Given the description of an element on the screen output the (x, y) to click on. 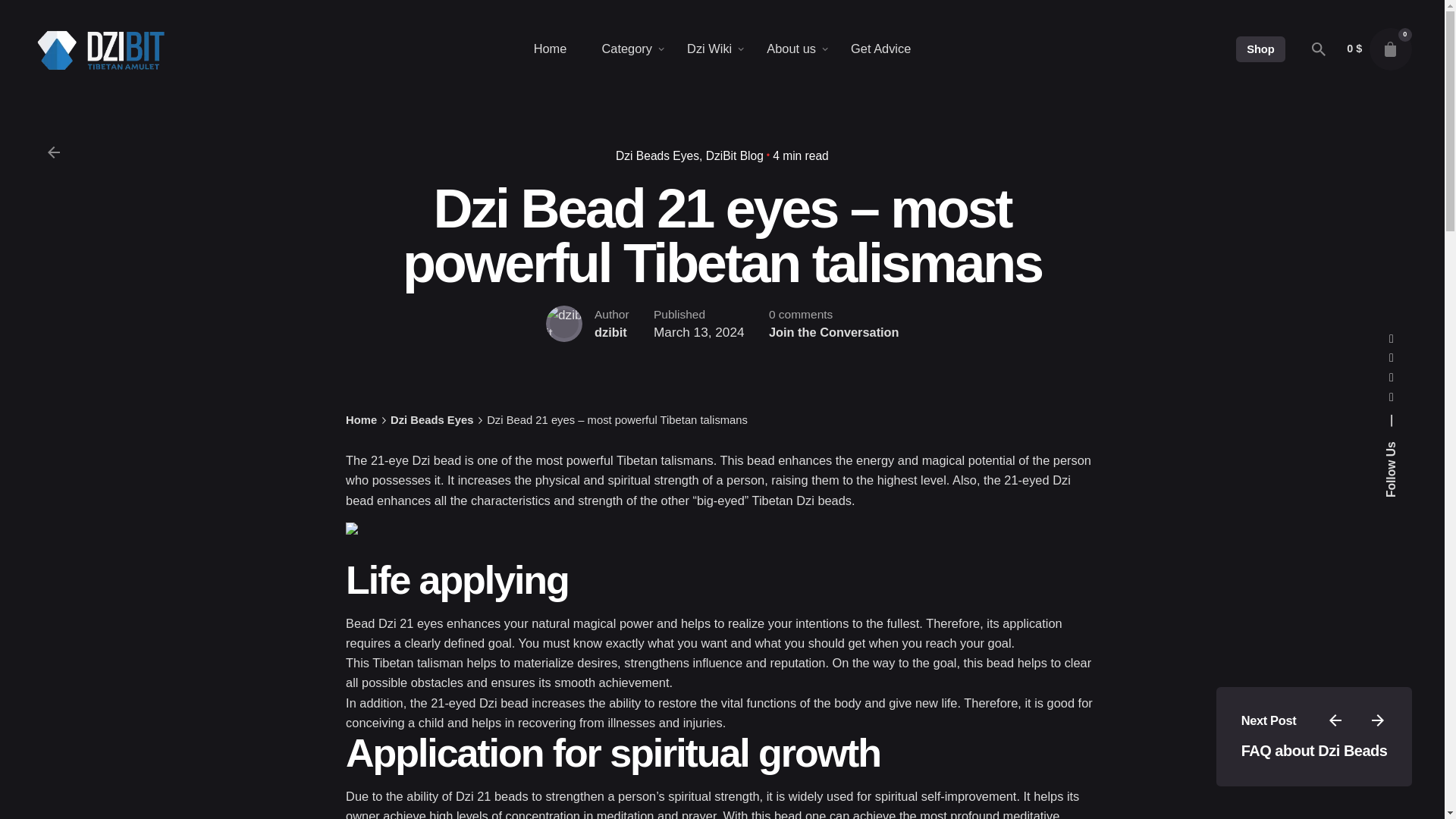
Dzi Wiki (709, 49)
About us (790, 49)
Home (550, 49)
Category (626, 49)
Get Advice (880, 49)
